Given the description of an element on the screen output the (x, y) to click on. 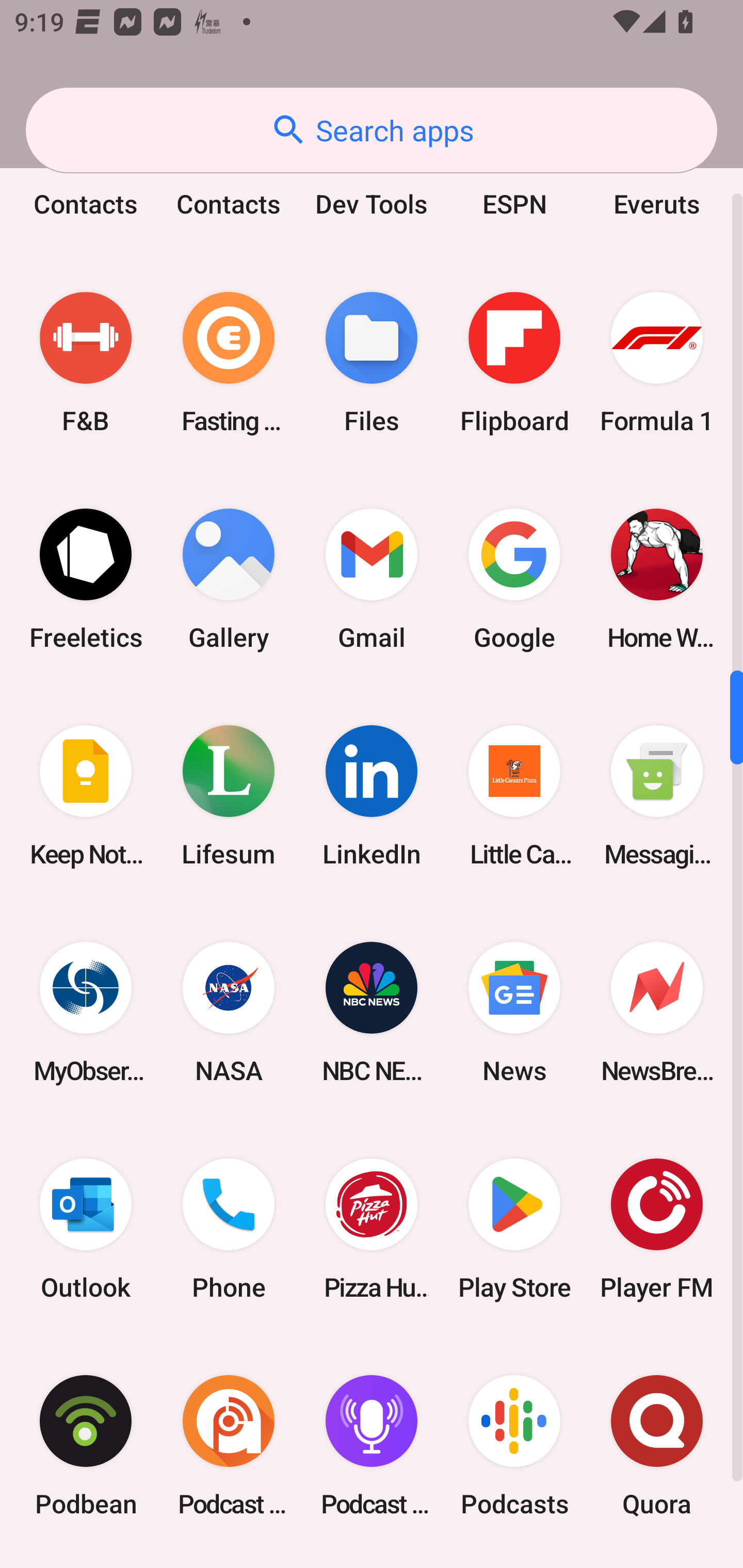
  Search apps (371, 130)
F&B (85, 362)
Fasting Coach (228, 362)
Files (371, 362)
Flipboard (514, 362)
Formula 1 (656, 362)
Freeletics (85, 578)
Gallery (228, 578)
Gmail (371, 578)
Google (514, 578)
Home Workout (656, 578)
Keep Notes (85, 795)
Lifesum (228, 795)
LinkedIn (371, 795)
Little Caesars Pizza (514, 795)
Messaging (656, 795)
MyObservatory (85, 1012)
NASA (228, 1012)
NBC NEWS (371, 1012)
News (514, 1012)
NewsBreak (656, 1012)
Outlook (85, 1229)
Phone (228, 1229)
Pizza Hut HK & Macau (371, 1229)
Play Store (514, 1229)
Player FM (656, 1229)
Podbean (85, 1445)
Podcast Addict (228, 1445)
Podcast Player (371, 1445)
Podcasts (514, 1445)
Quora (656, 1445)
